Given the description of an element on the screen output the (x, y) to click on. 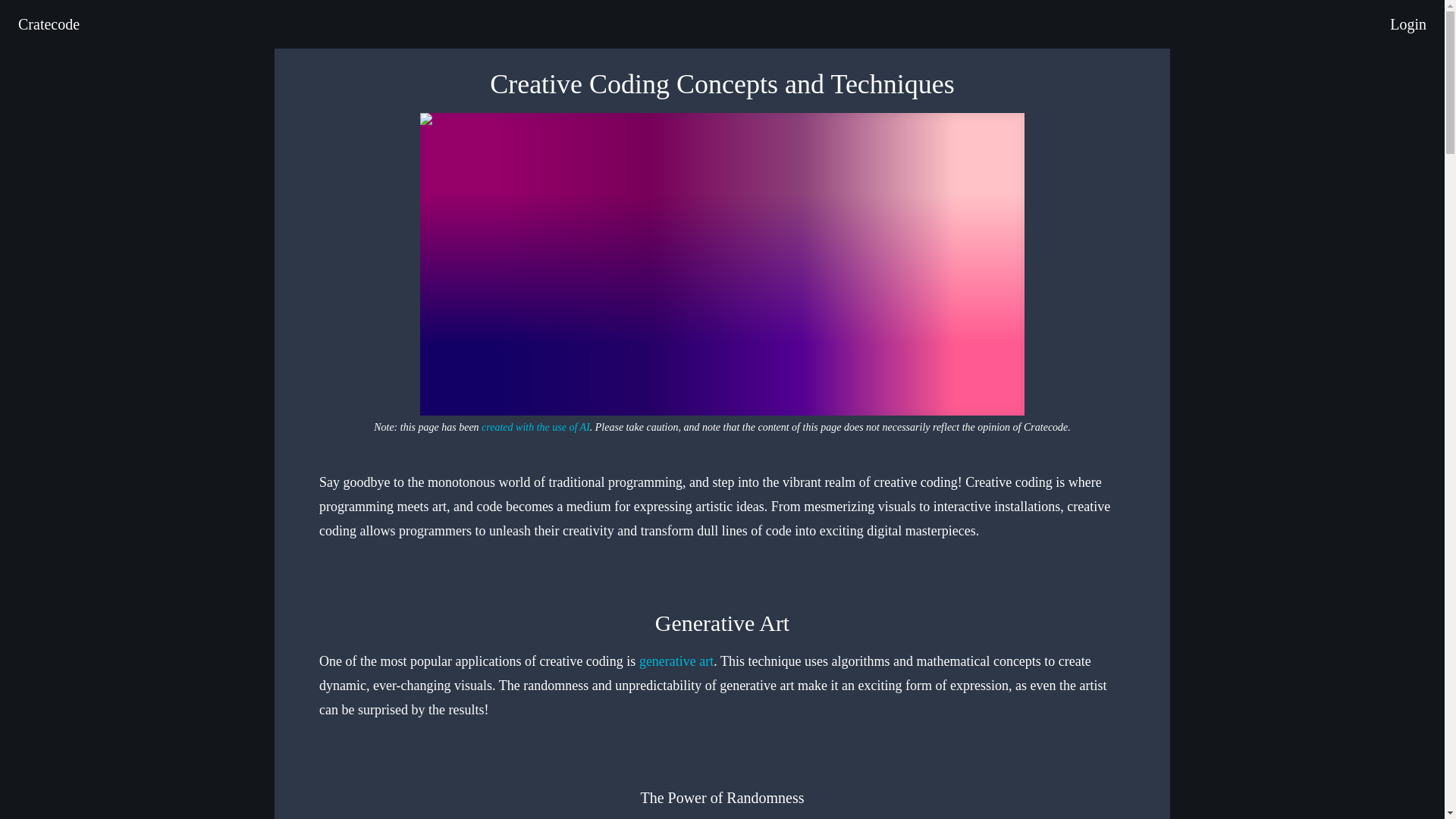
generative art (676, 661)
Cratecode (48, 24)
Login (1408, 24)
created with the use of AI (535, 427)
